Given the description of an element on the screen output the (x, y) to click on. 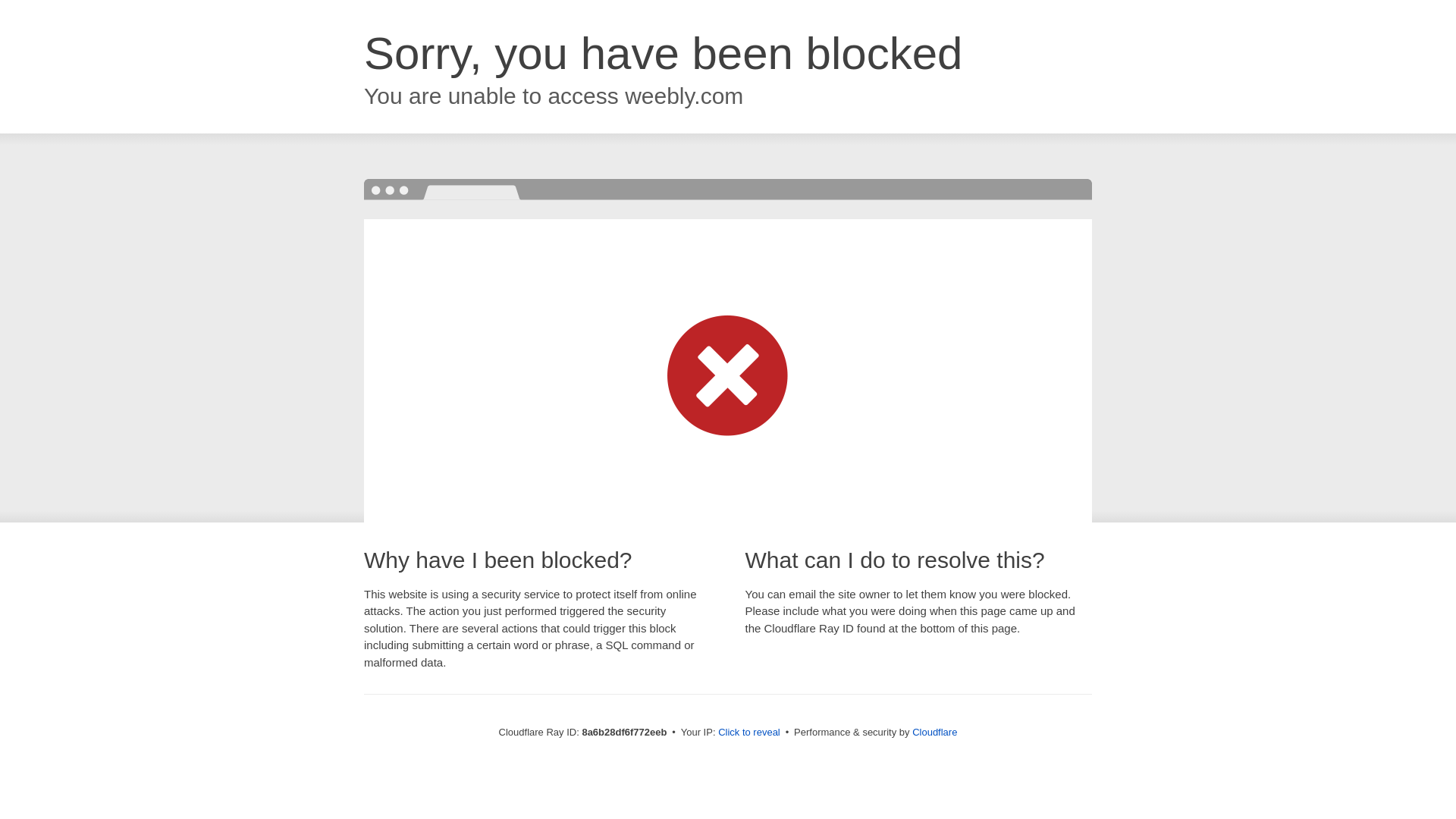
Click to reveal (748, 732)
Cloudflare (934, 731)
